Given the description of an element on the screen output the (x, y) to click on. 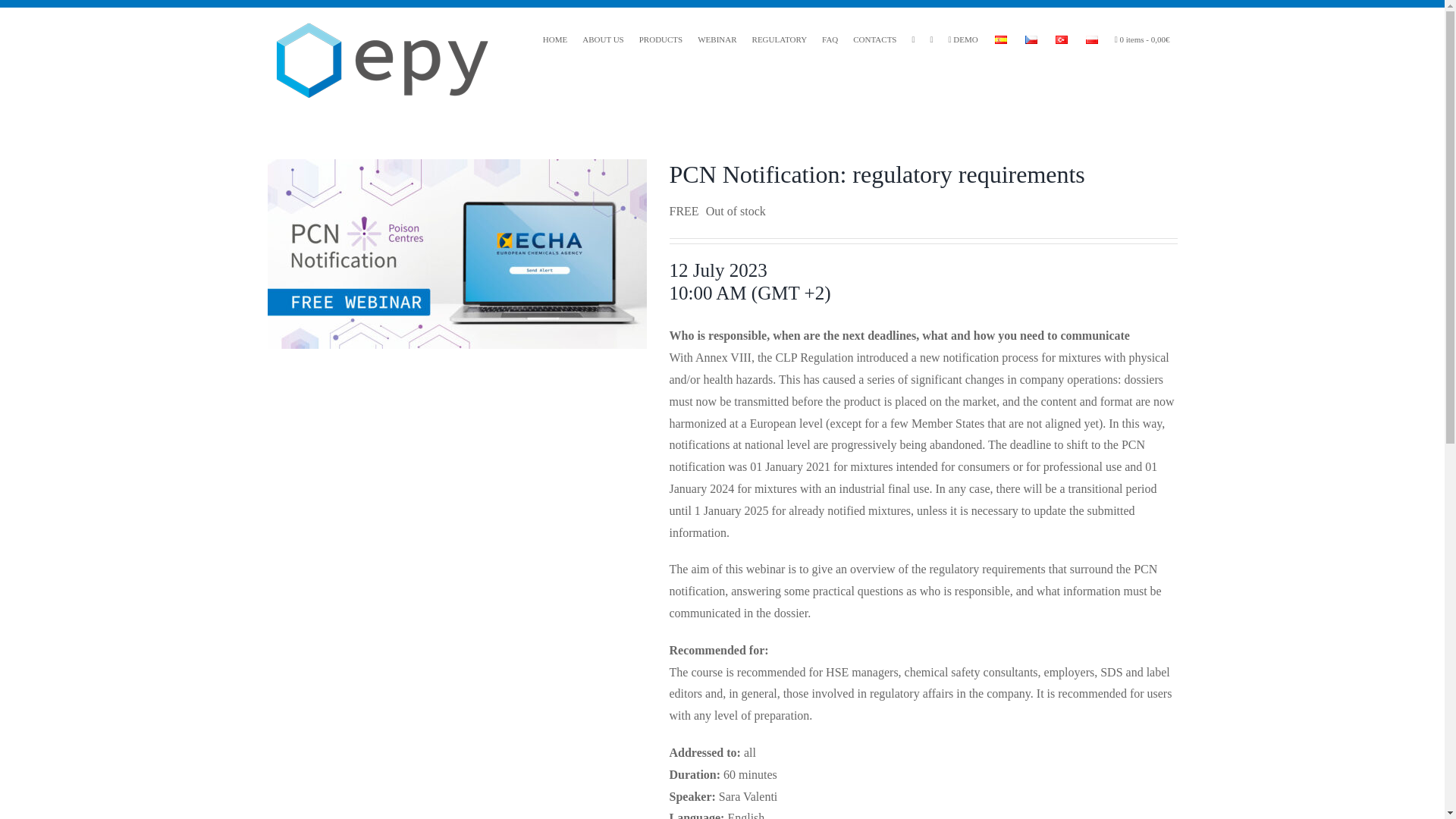
ABOUT US (603, 39)
HOME (555, 39)
DEMO (962, 39)
Start shopping (1141, 39)
FAQ (829, 39)
WEBINAR (717, 39)
CONTACTS (874, 39)
PRODUCTS (660, 39)
REGULATORY (779, 39)
